Given the description of an element on the screen output the (x, y) to click on. 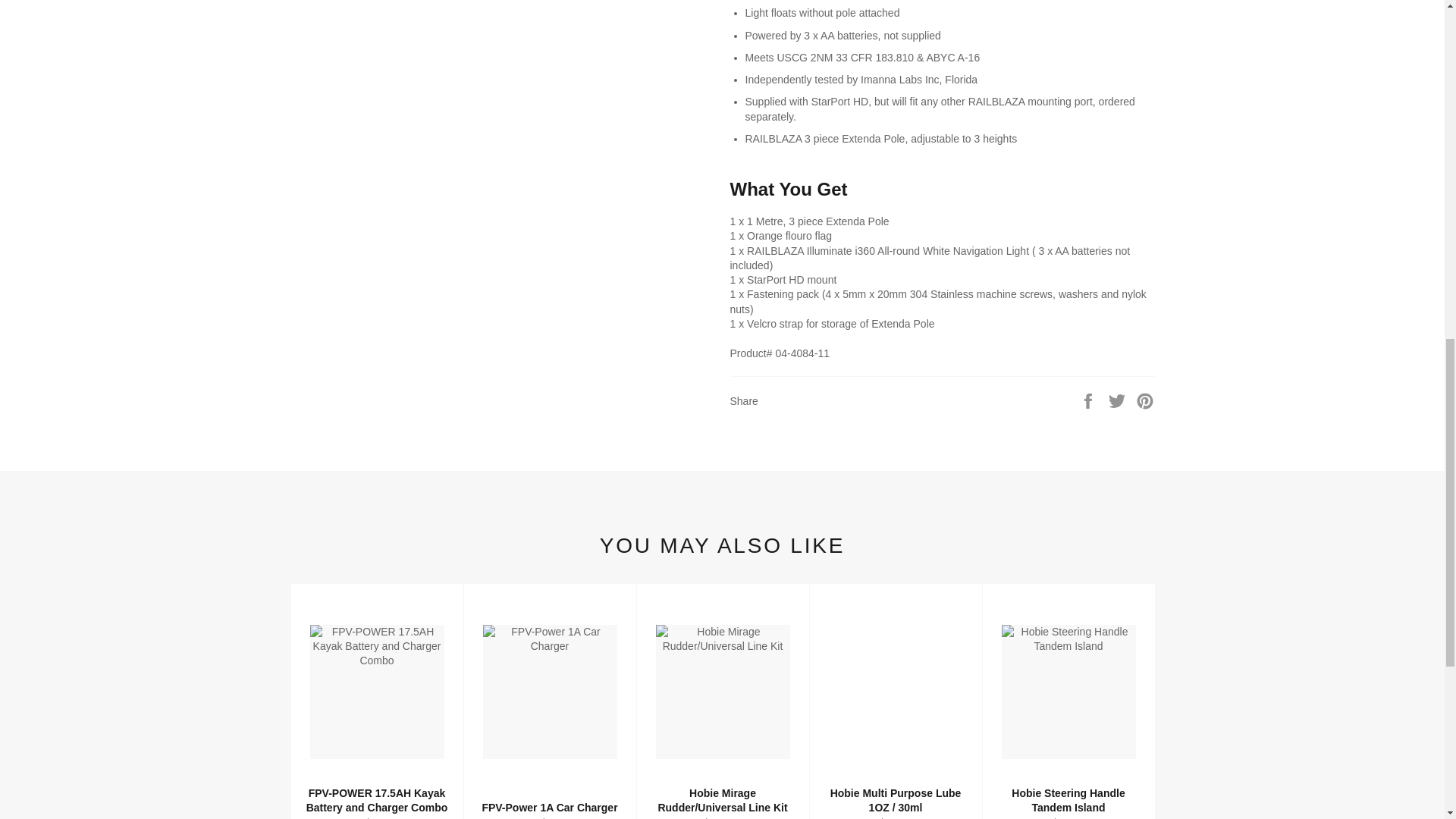
Pin on Pinterest (1144, 399)
Tweet on Twitter (1118, 399)
Share on Facebook (1089, 399)
